Given the description of an element on the screen output the (x, y) to click on. 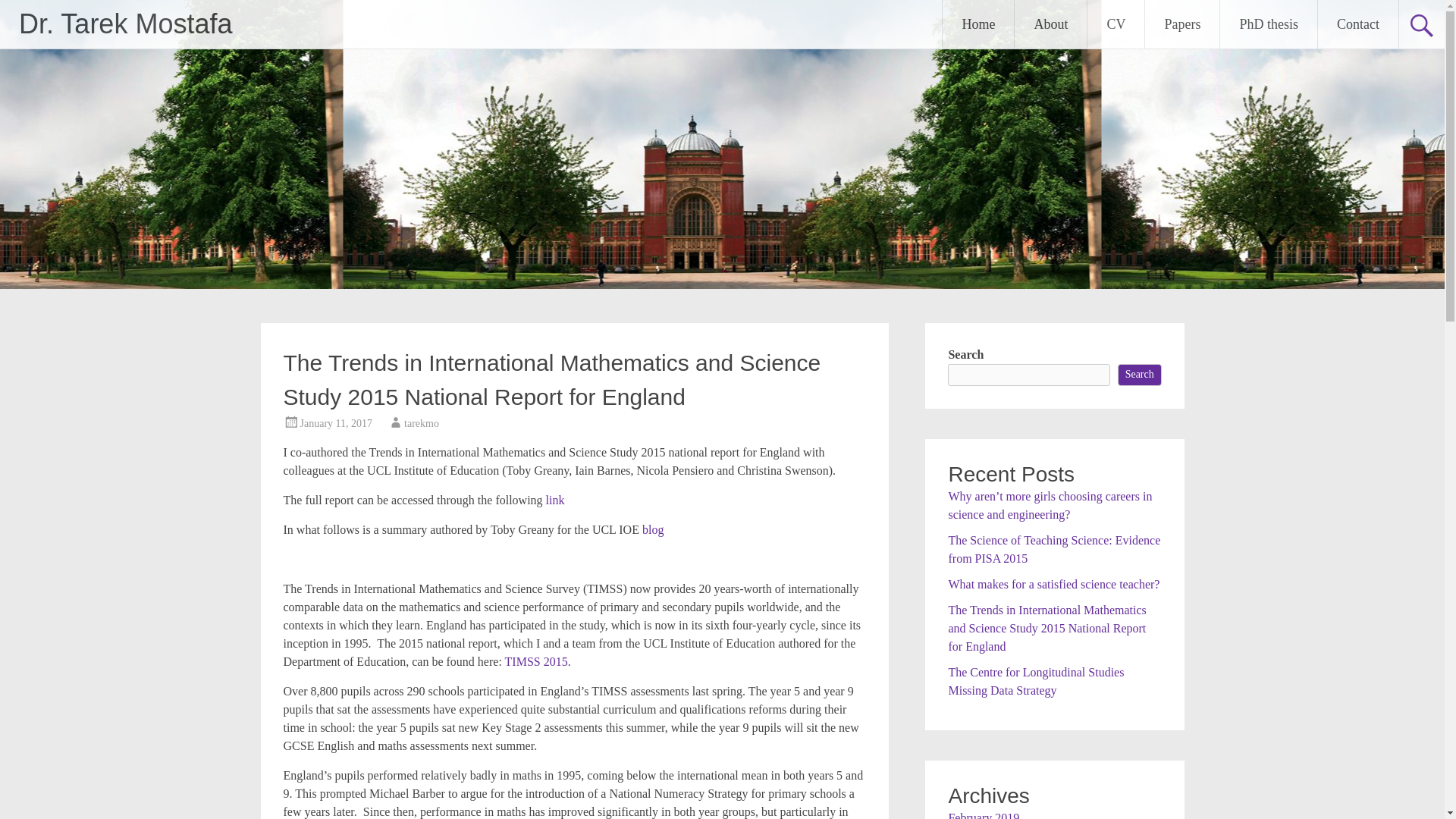
January 11, 2017 (335, 423)
tarekmo (421, 423)
link (555, 499)
Home (977, 24)
February 2019 (983, 815)
TIMSS 2015 (536, 661)
The Centre for Longitudinal Studies Missing Data Strategy (1035, 680)
Papers (1182, 24)
The Science of Teaching Science: Evidence from PISA 2015 (1053, 549)
About (1050, 24)
